Given the description of an element on the screen output the (x, y) to click on. 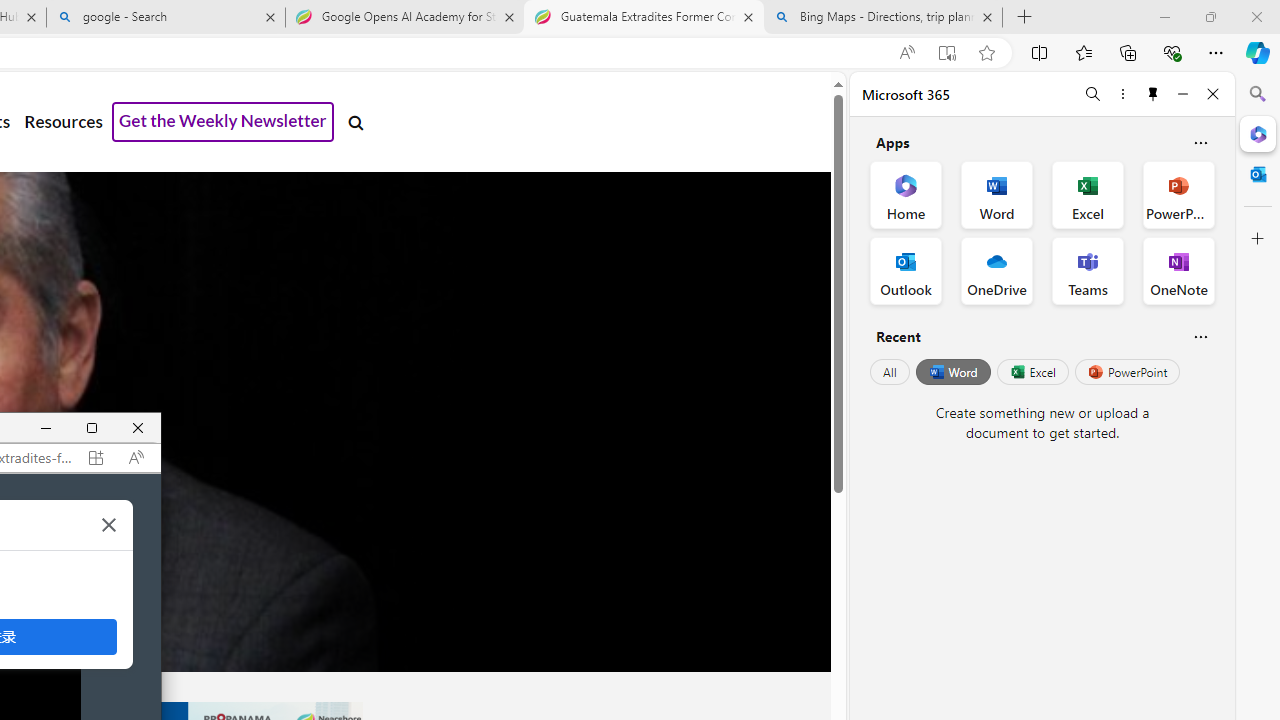
Teams Office App (1087, 270)
App available. Install X (95, 457)
Outlook Office App (906, 270)
Maximize (92, 428)
PowerPoint Office App (1178, 194)
OneDrive Office App (996, 270)
